Given the description of an element on the screen output the (x, y) to click on. 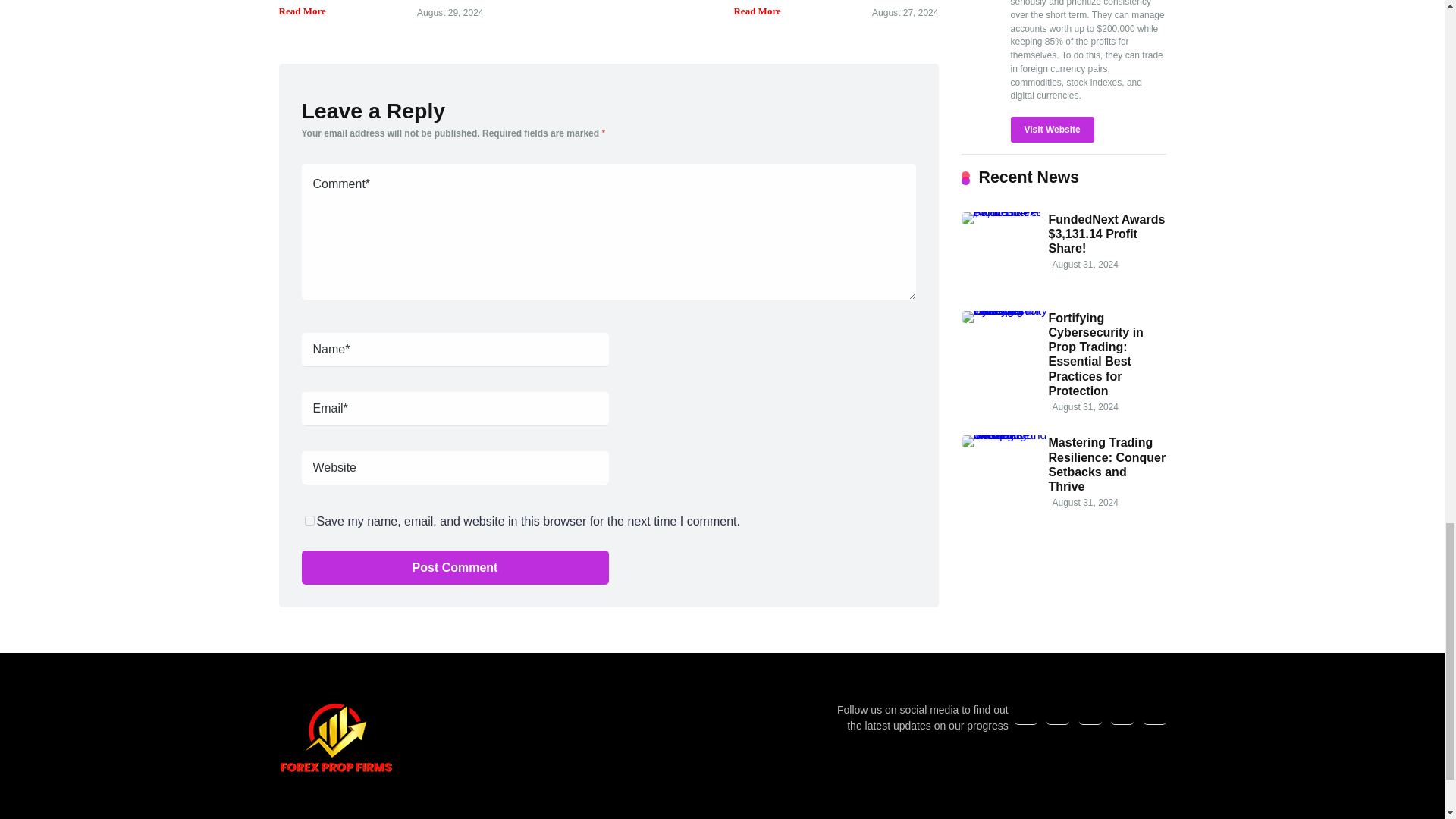
yes (309, 520)
Post Comment (454, 567)
Post Comment (454, 567)
